Given the description of an element on the screen output the (x, y) to click on. 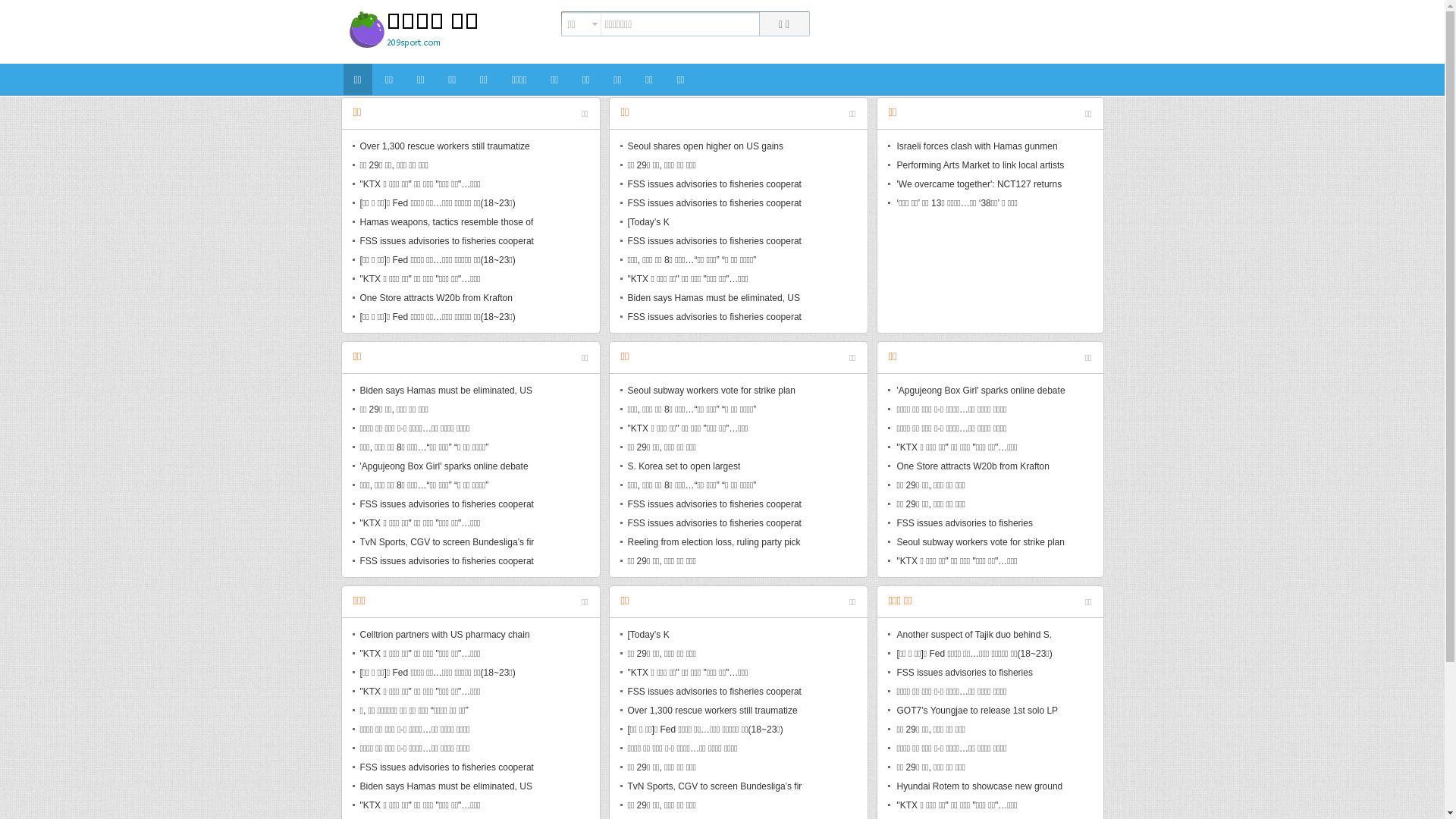
Seoul subway workers vote for strike plan Element type: text (981, 542)
One Store attracts W20b from Krafton Element type: text (981, 466)
Hamas weapons, tactics resemble those of NK: JCS Element type: text (446, 232)
'Apgujeong Box Girl' sparks online debate Element type: text (981, 390)
Seoul shares open higher on US gains Element type: text (714, 146)
S. Korea set to open largest Element type: text (714, 466)
'We overcame together': NCT127 returns on more solid ground Element type: text (981, 194)
Israeli forces clash with Hamas gunmen after hundreds killed Element type: text (981, 156)
'Apgujeong Box Girl' sparks online debate Element type: text (446, 466)
Celltrion partners with US pharmacy chain for Yuflyma sales Element type: text (446, 644)
One Store attracts W20b from Krafton Element type: text (446, 297)
Seoul subway workers vote for strike plan Element type: text (714, 390)
Performing Arts Market to link local artists to world Element type: text (981, 175)
